Given the description of an element on the screen output the (x, y) to click on. 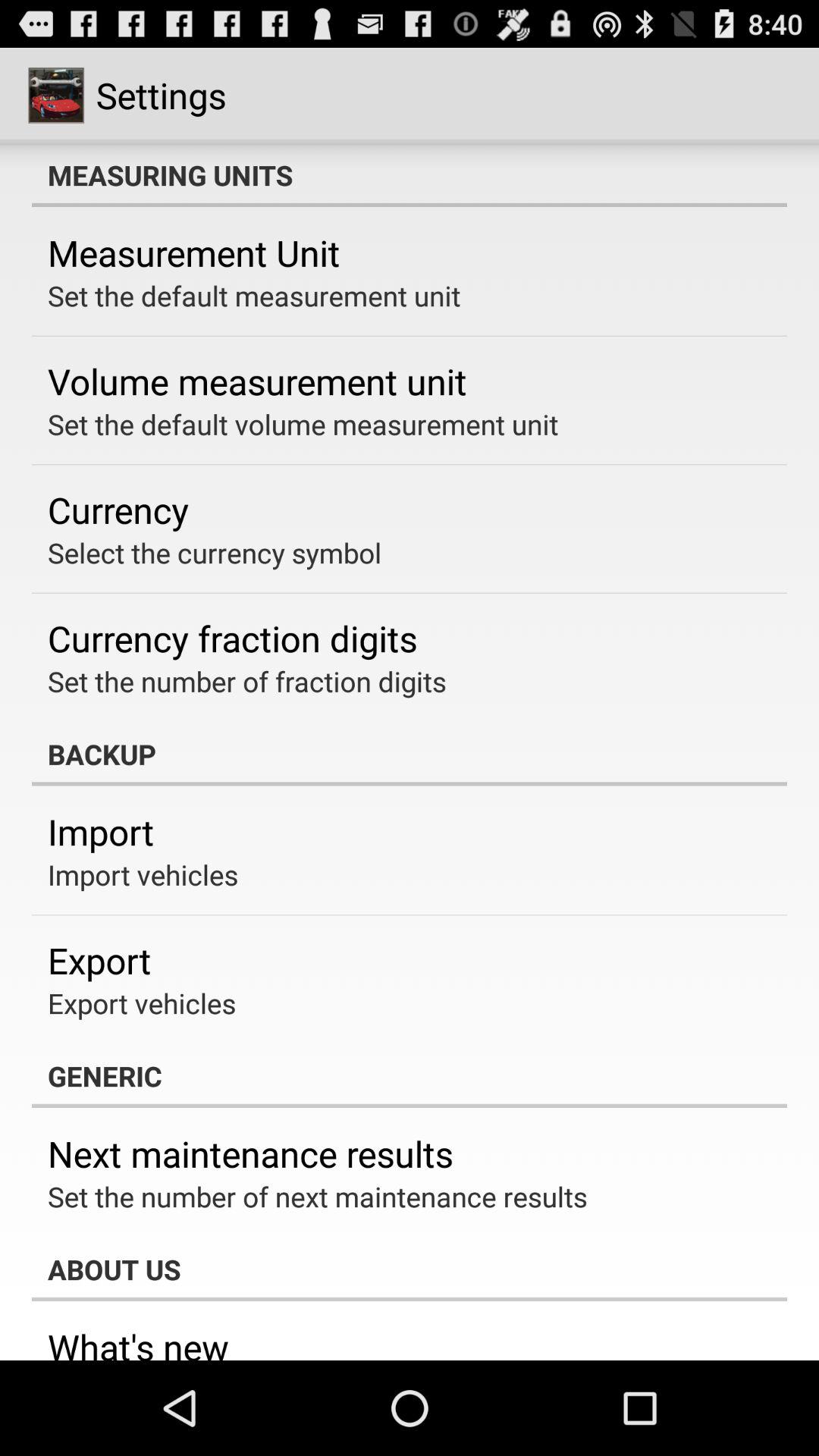
select what's new icon (137, 1341)
